Given the description of an element on the screen output the (x, y) to click on. 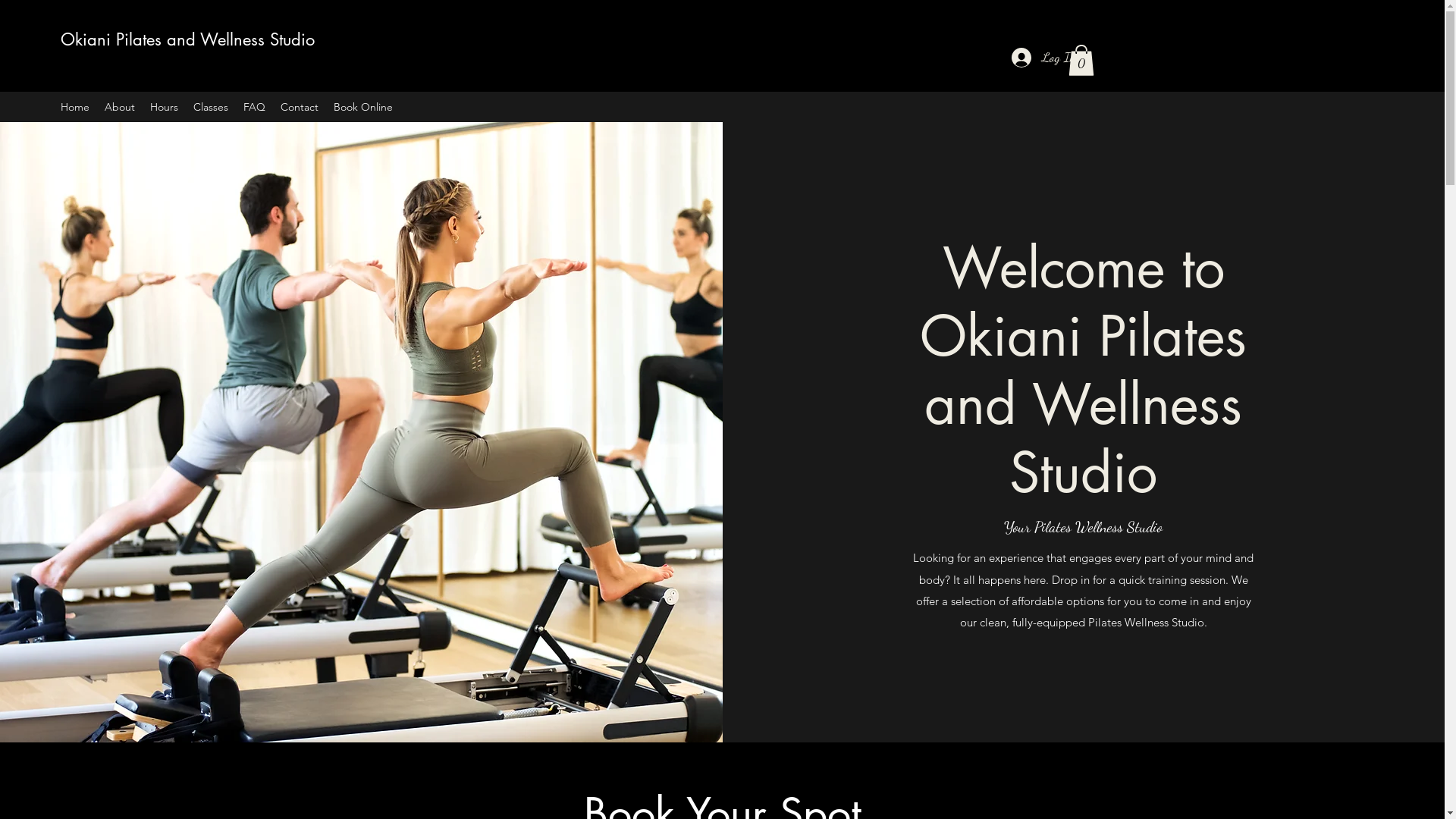
Log In Element type: text (1043, 57)
About Element type: text (119, 106)
Home Element type: text (75, 106)
FAQ Element type: text (254, 106)
Hours Element type: text (163, 106)
0 Element type: text (1080, 59)
Classes Element type: text (210, 106)
Book Online Element type: text (363, 106)
Contact Element type: text (299, 106)
